Given the description of an element on the screen output the (x, y) to click on. 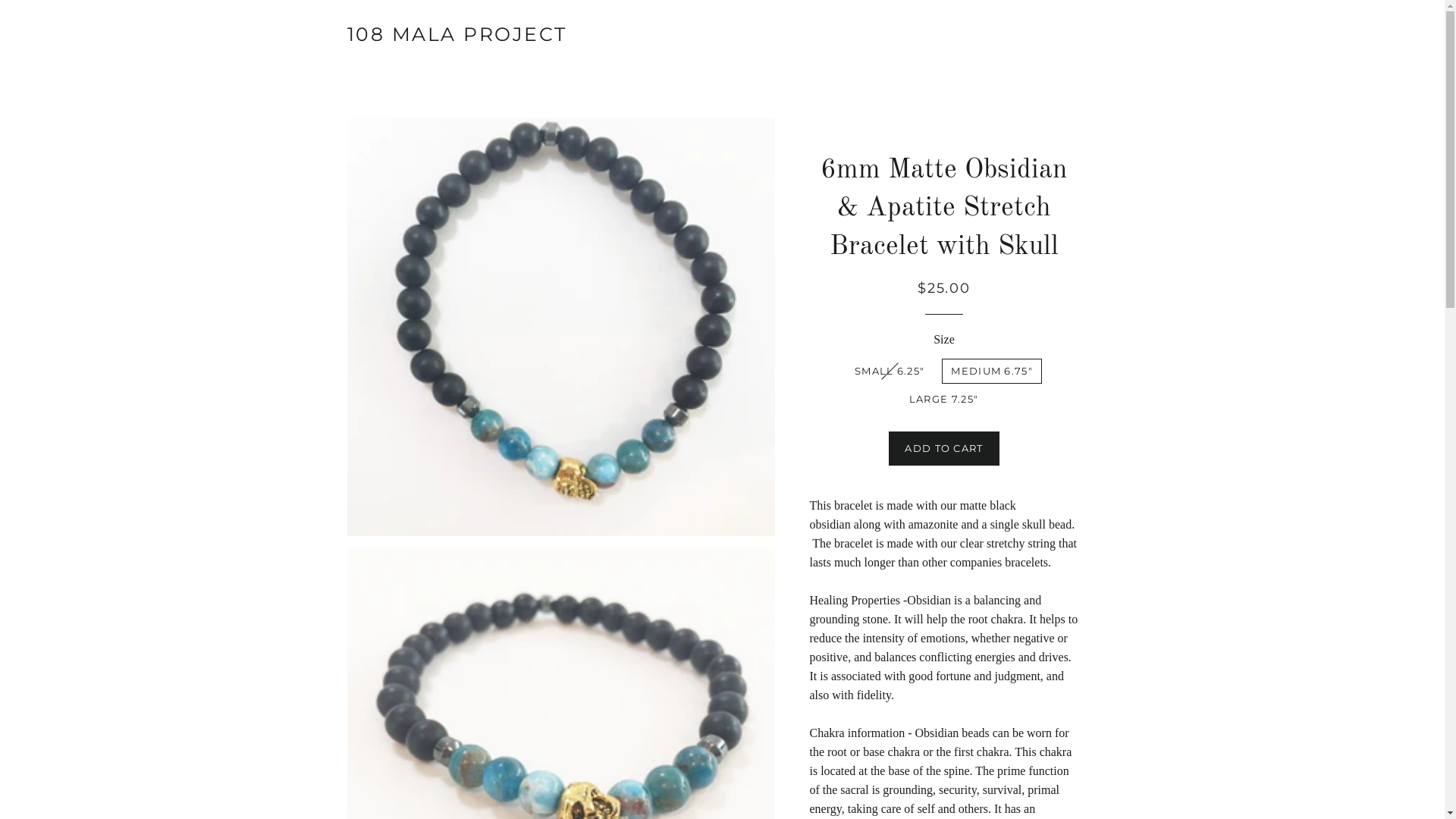
ADD TO CART Element type: text (943, 447)
108 MALA PROJECT Element type: text (457, 34)
